Given the description of an element on the screen output the (x, y) to click on. 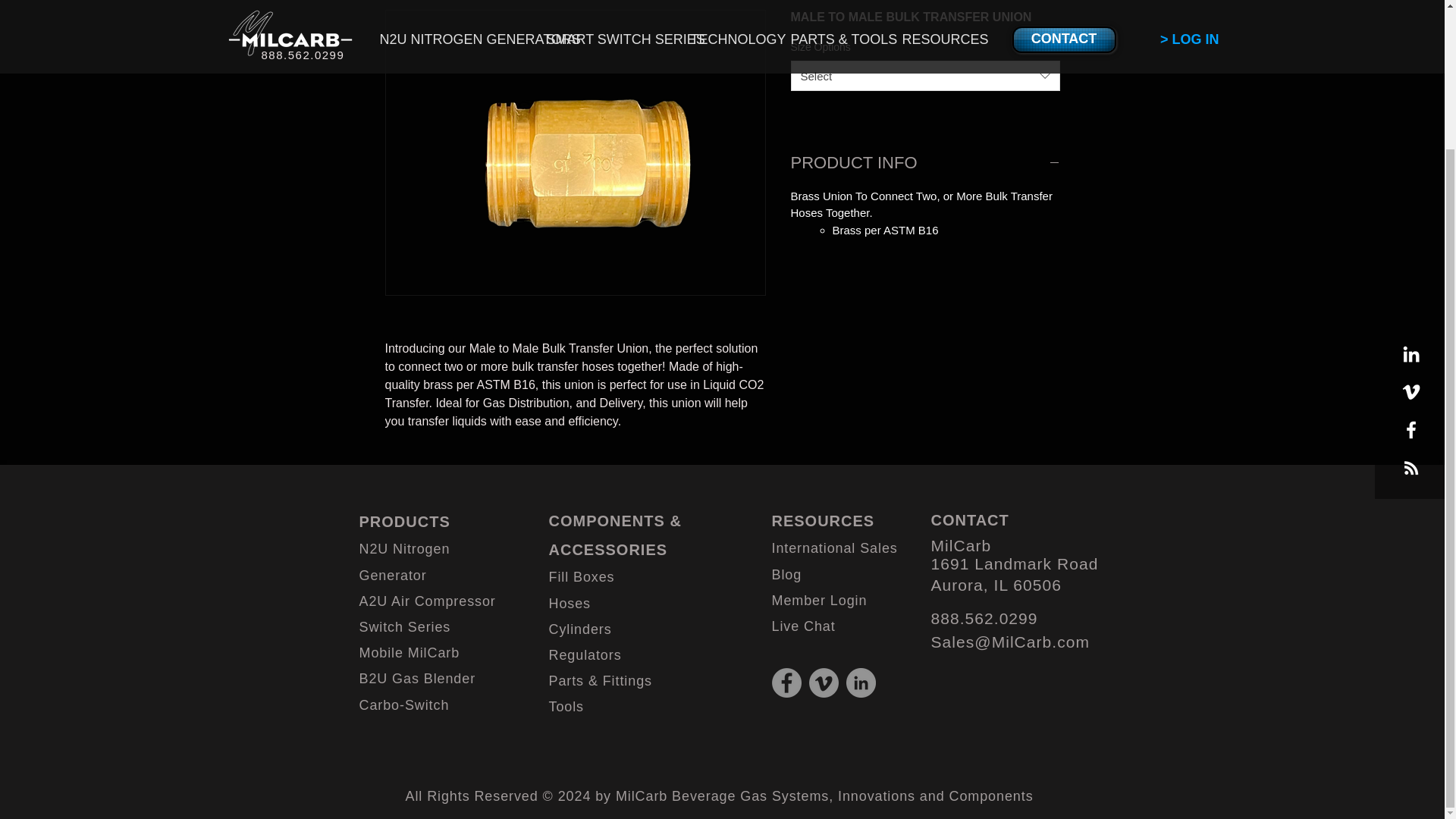
Regulators (584, 654)
N2U Nitrogen Generator (404, 561)
B2U Gas Blender (417, 678)
Blog (786, 574)
Cylinders (579, 629)
Select (924, 75)
International Sales (834, 548)
Fill Boxes (581, 576)
Carbo-Switch (404, 704)
A2U Air Compressor (427, 601)
